Given the description of an element on the screen output the (x, y) to click on. 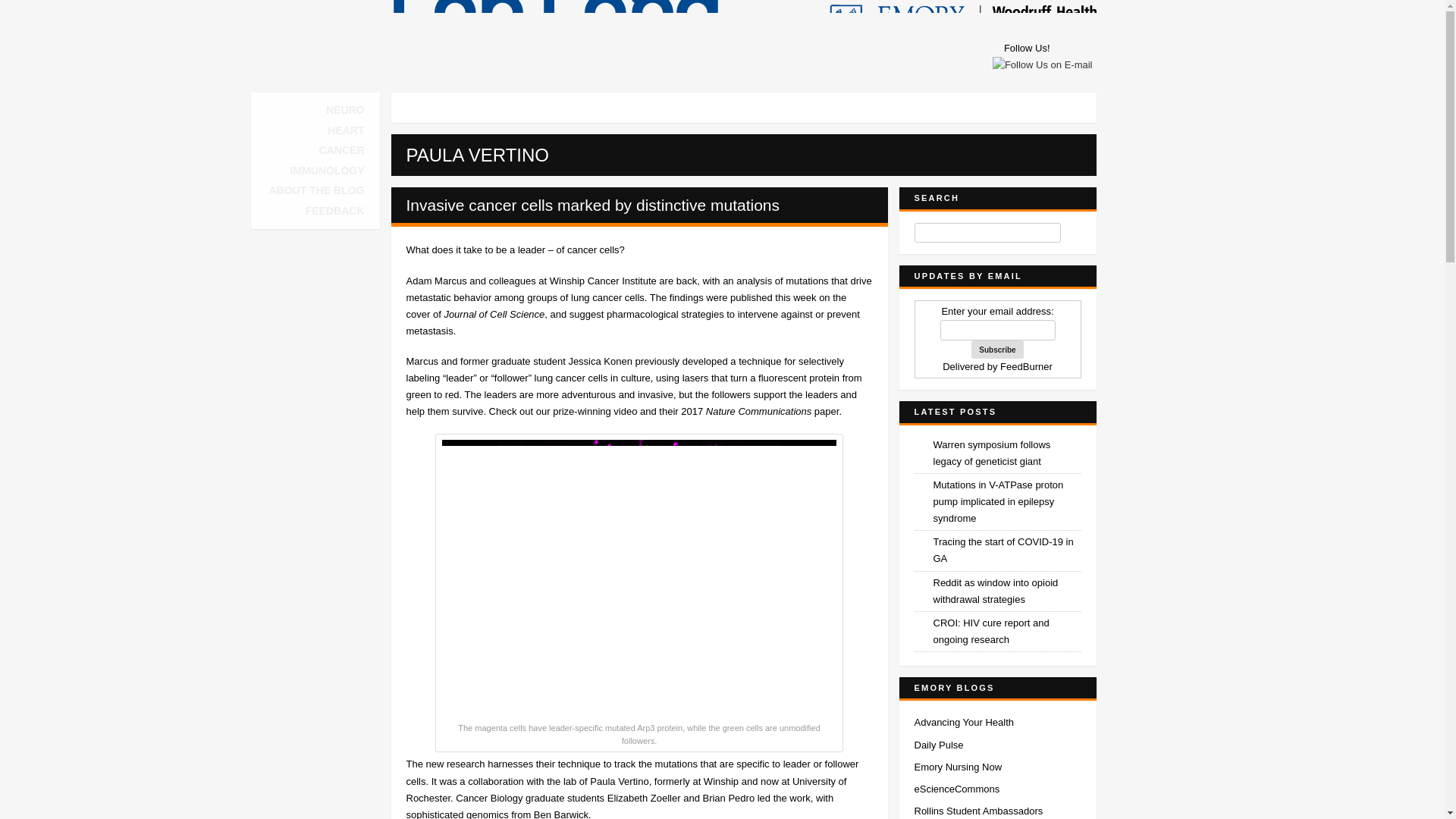
Journal of Cell Science (494, 314)
Subscribe (997, 349)
Nature Communications (759, 410)
Search (1071, 233)
IMMUNOLOGY (326, 170)
ABOUT THE BLOG (315, 190)
NEURO (345, 110)
Search (1071, 233)
FEEDBACK (334, 210)
Invasive cancer cells marked by distinctive mutations (593, 204)
Read Invasive cancer cells marked by distinctive mutations (593, 204)
CANCER (342, 150)
our prize-winning video (587, 410)
University of Rochester (626, 789)
on the cover (626, 305)
